Given the description of an element on the screen output the (x, y) to click on. 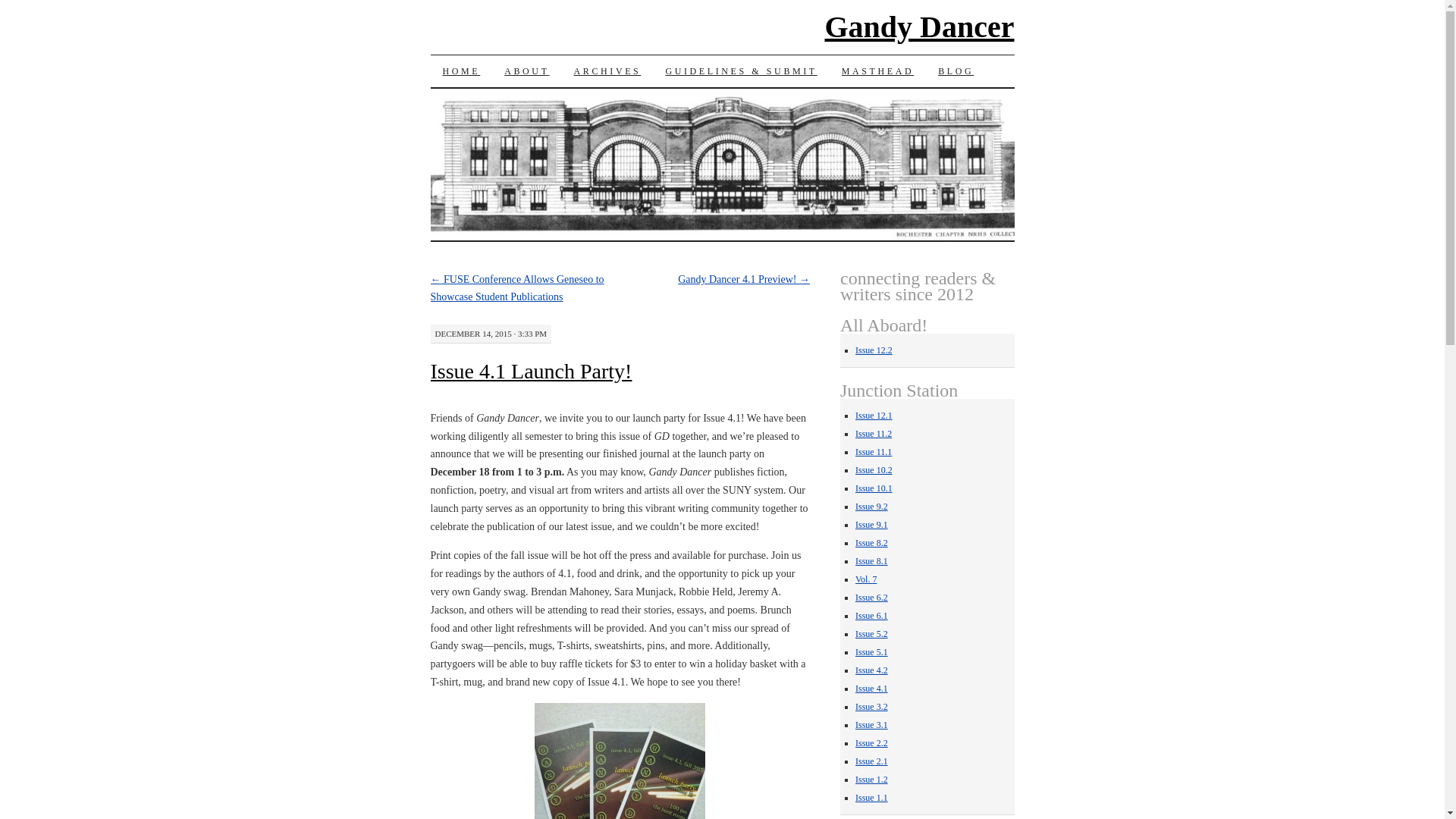
Gandy Dancer (919, 26)
ARCHIVES (607, 70)
Gandy Dancer (919, 26)
ABOUT (526, 70)
HOME (461, 70)
